Given the description of an element on the screen output the (x, y) to click on. 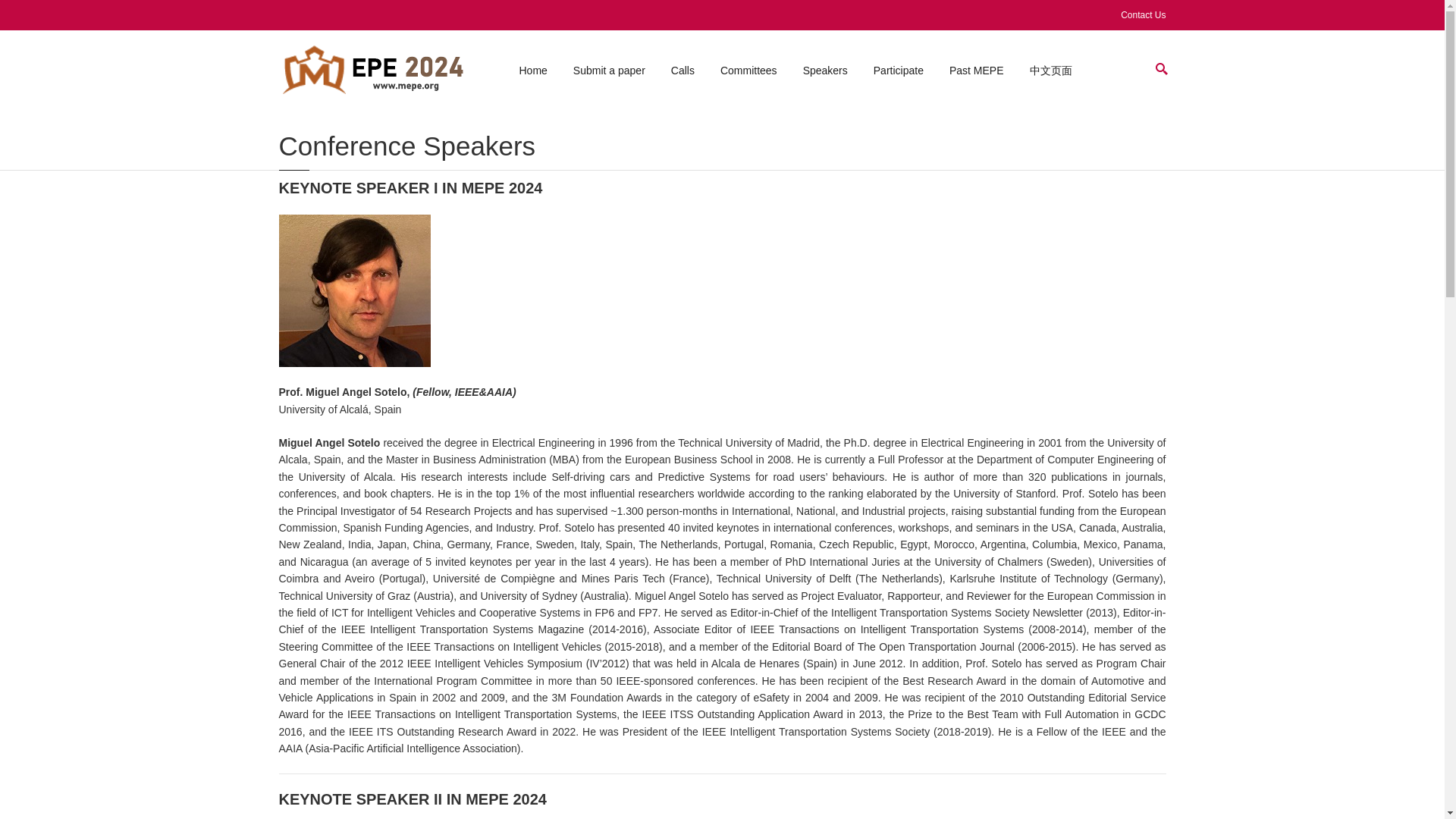
Past MEPE (976, 70)
Calls (682, 70)
Home (532, 70)
Participate (898, 70)
Committees (748, 70)
Speakers (825, 70)
Submit a paper (609, 70)
Contact Us (1142, 15)
